Given the description of an element on the screen output the (x, y) to click on. 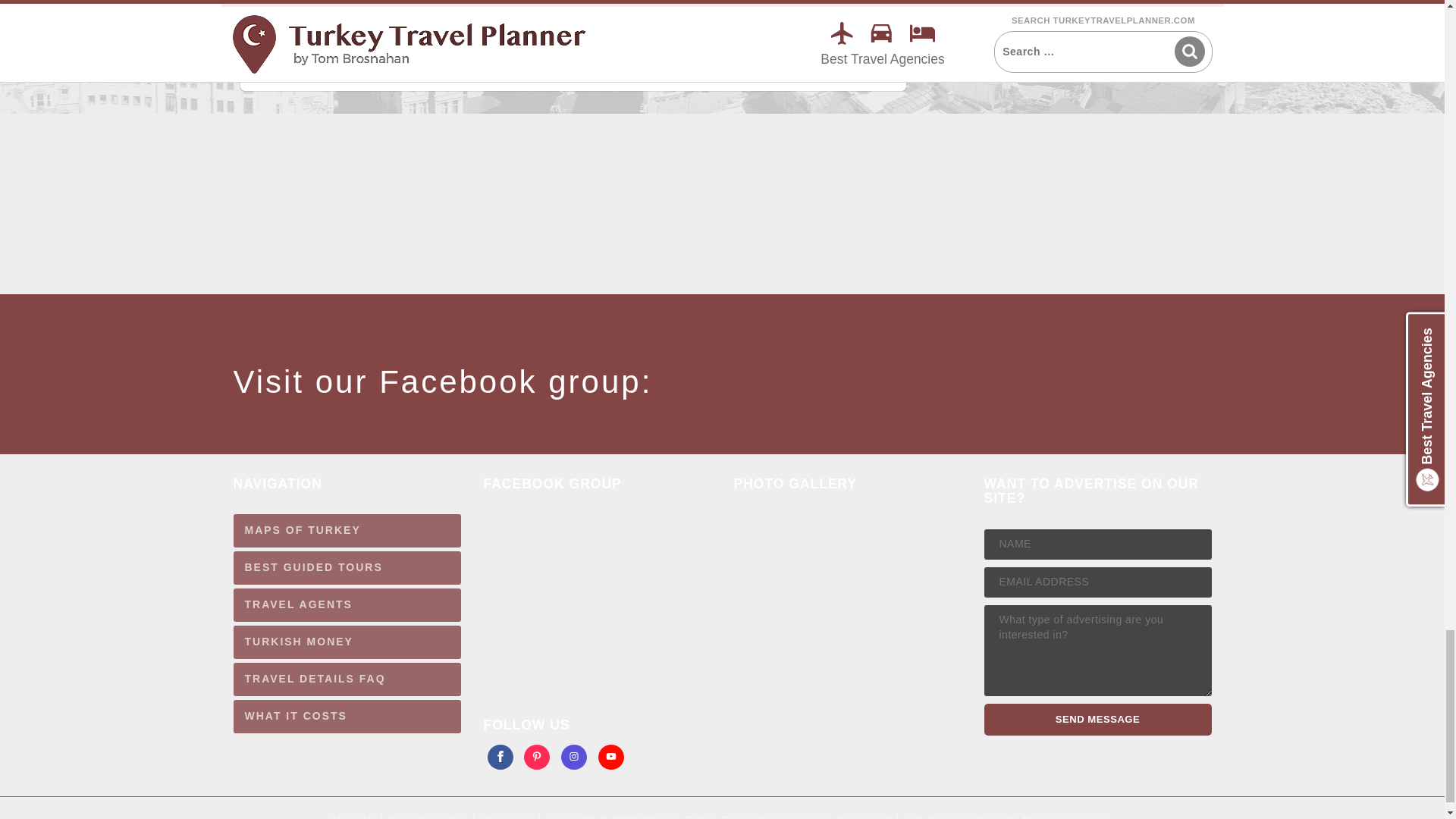
PHOTO GALLERY (836, 616)
SEND MESSAGE (1097, 719)
FACEBOOK GROUP (585, 604)
